Given the description of an element on the screen output the (x, y) to click on. 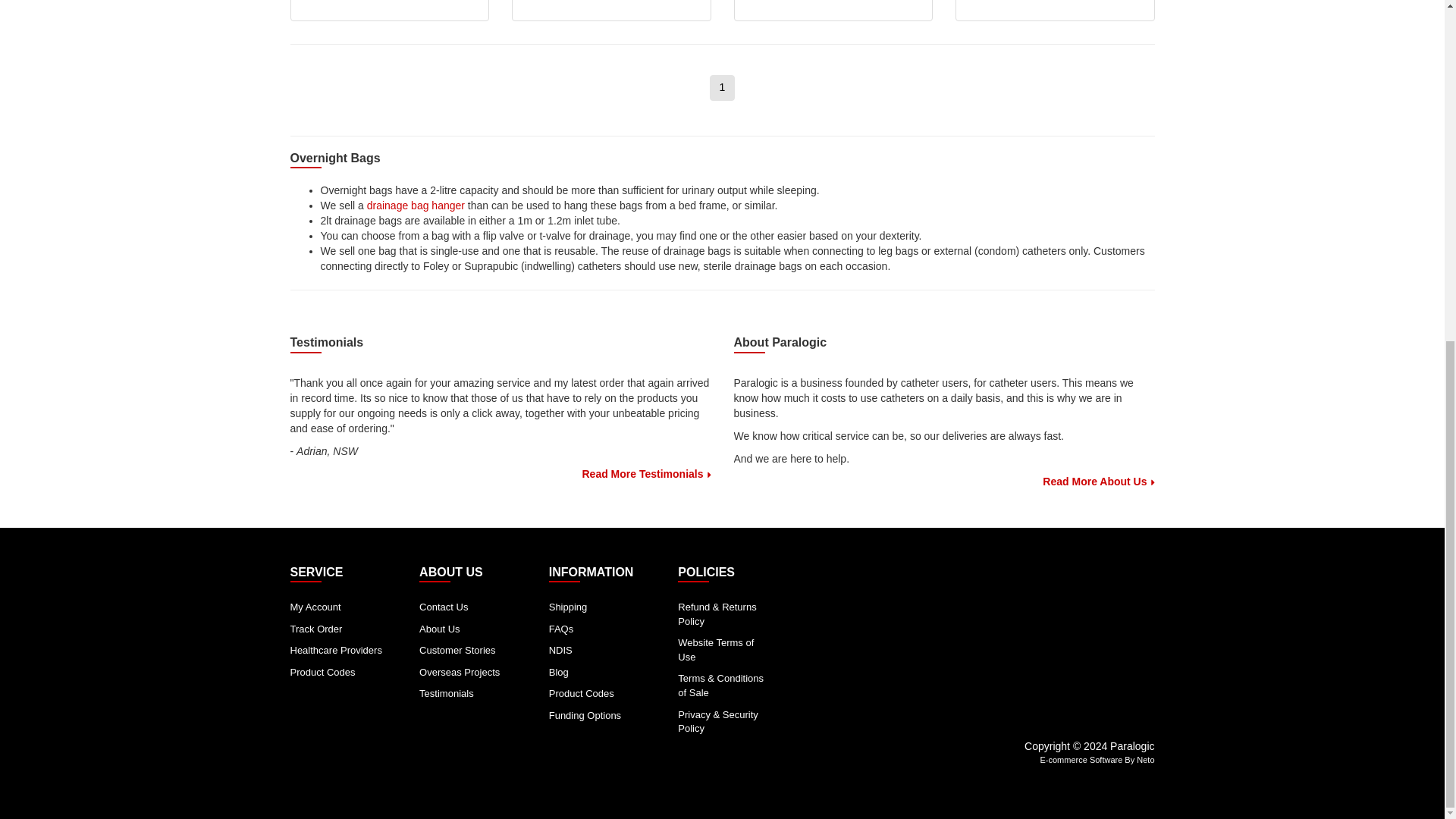
E-commerce Shopping Cart (1081, 759)
